Given the description of an element on the screen output the (x, y) to click on. 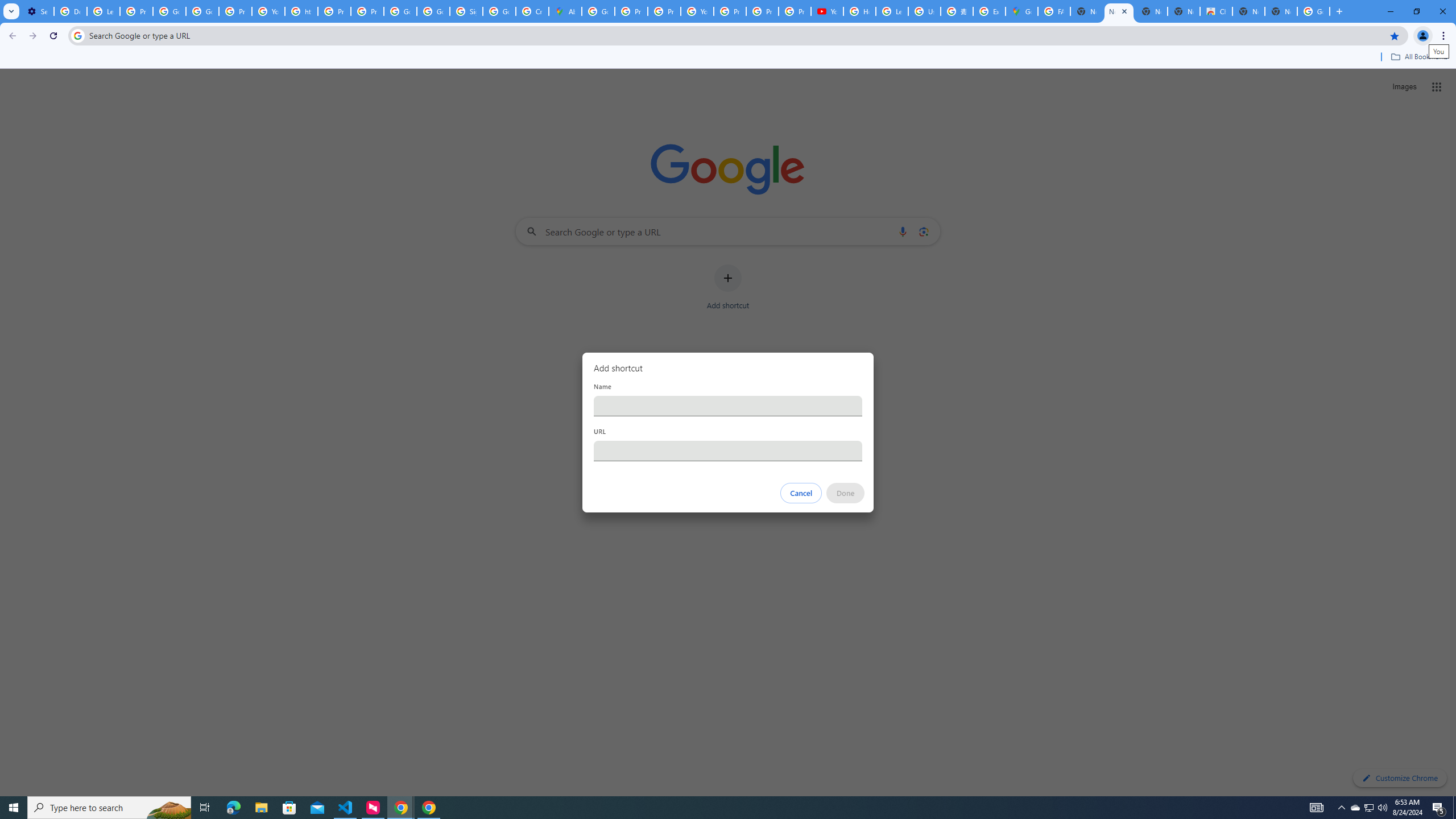
Done (845, 493)
Privacy Help Center - Policies Help (663, 11)
Chrome Web Store (1216, 11)
Bookmarks (728, 58)
Cancel (801, 493)
